Given the description of an element on the screen output the (x, y) to click on. 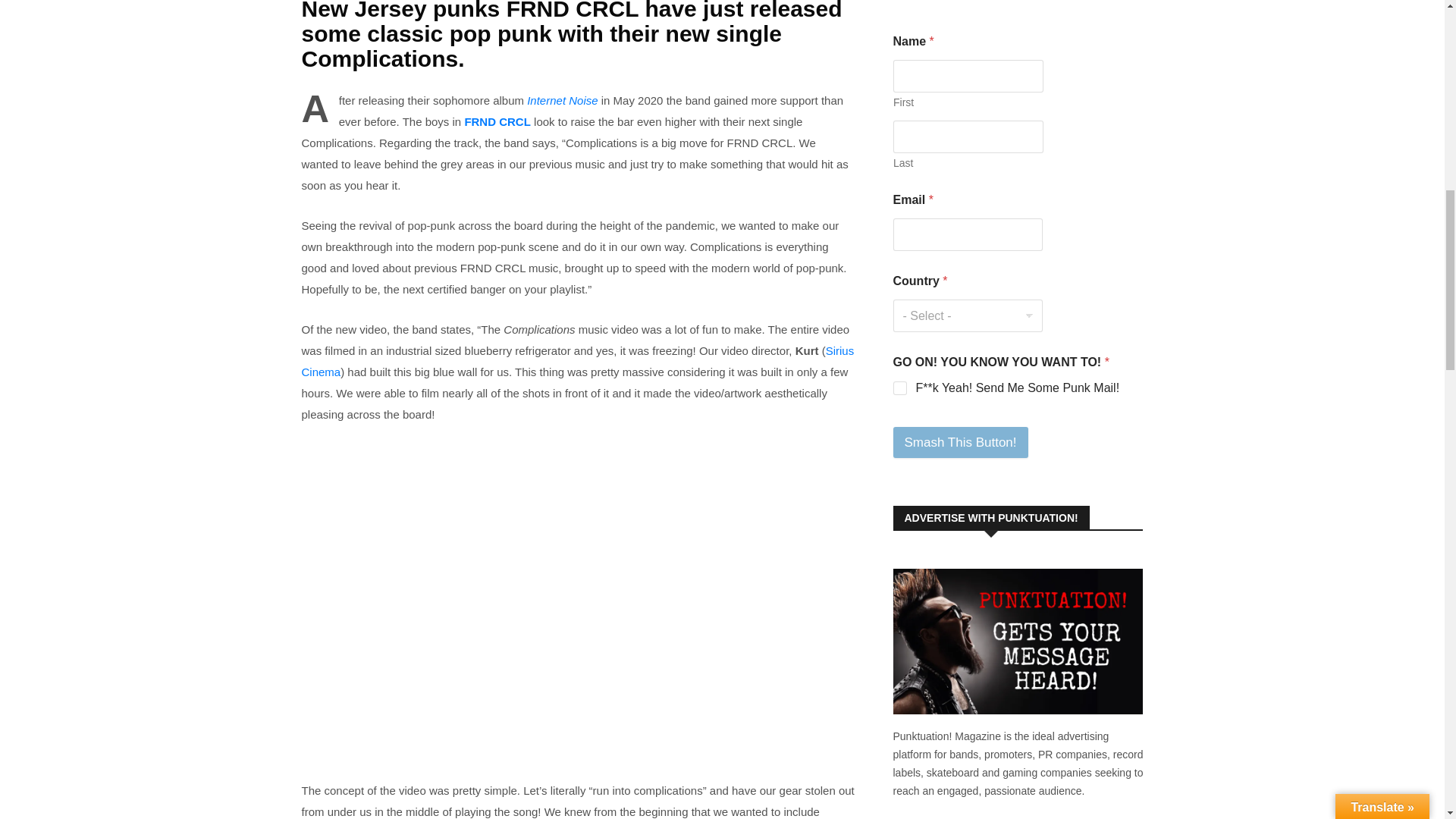
Sirius Cinema (577, 360)
Internet Noise (561, 100)
FRND CRCL (497, 121)
